Given the description of an element on the screen output the (x, y) to click on. 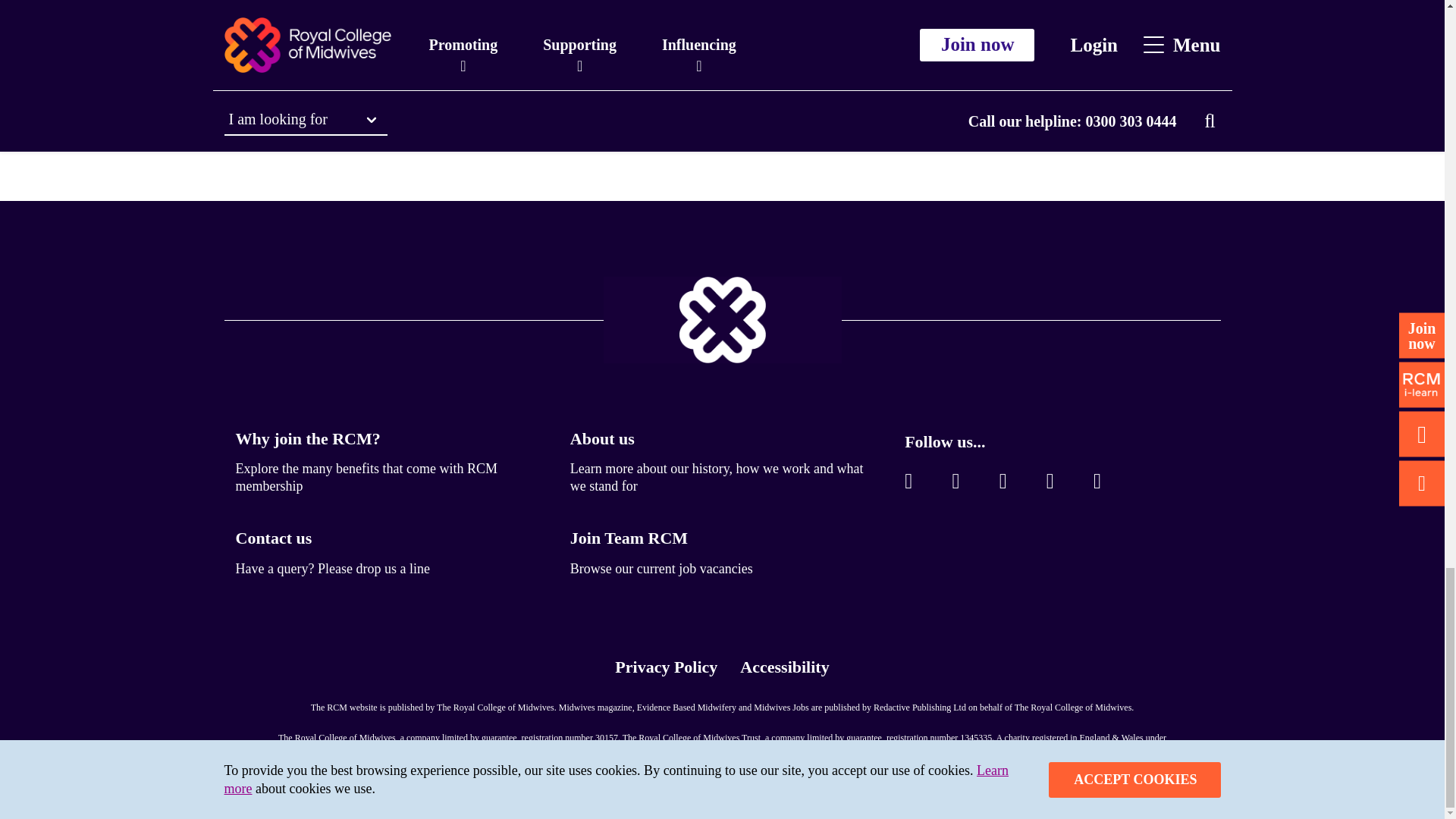
Contact us (272, 537)
About us (602, 438)
Why join the RCM? (307, 438)
Join Team RCM (628, 537)
